Given the description of an element on the screen output the (x, y) to click on. 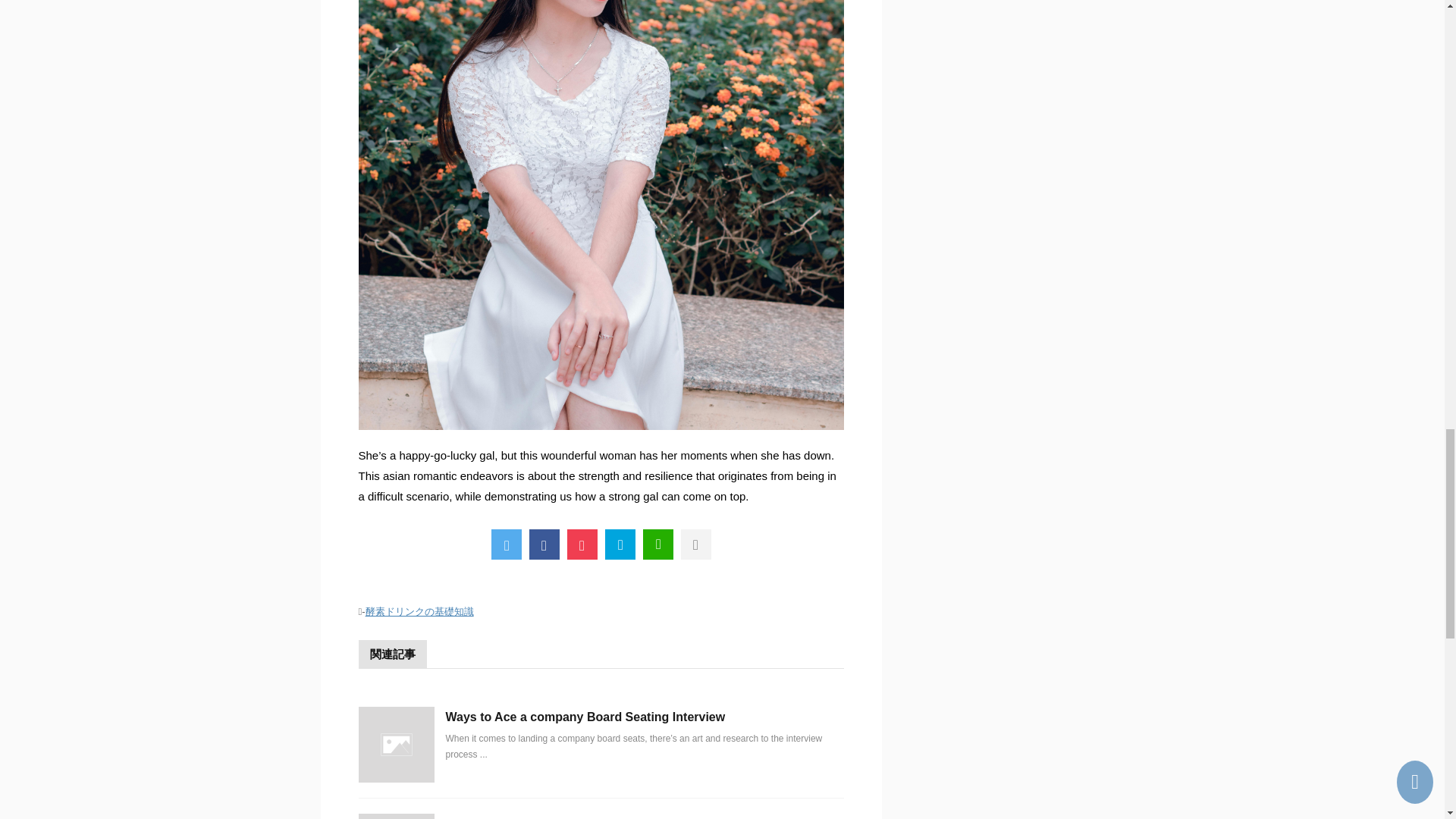
no image (395, 816)
Ways to Ace a company Board Seating Interview (585, 716)
Top five Asian Romantic stories to Watch Come early july (619, 544)
no image (395, 744)
